Given the description of an element on the screen output the (x, y) to click on. 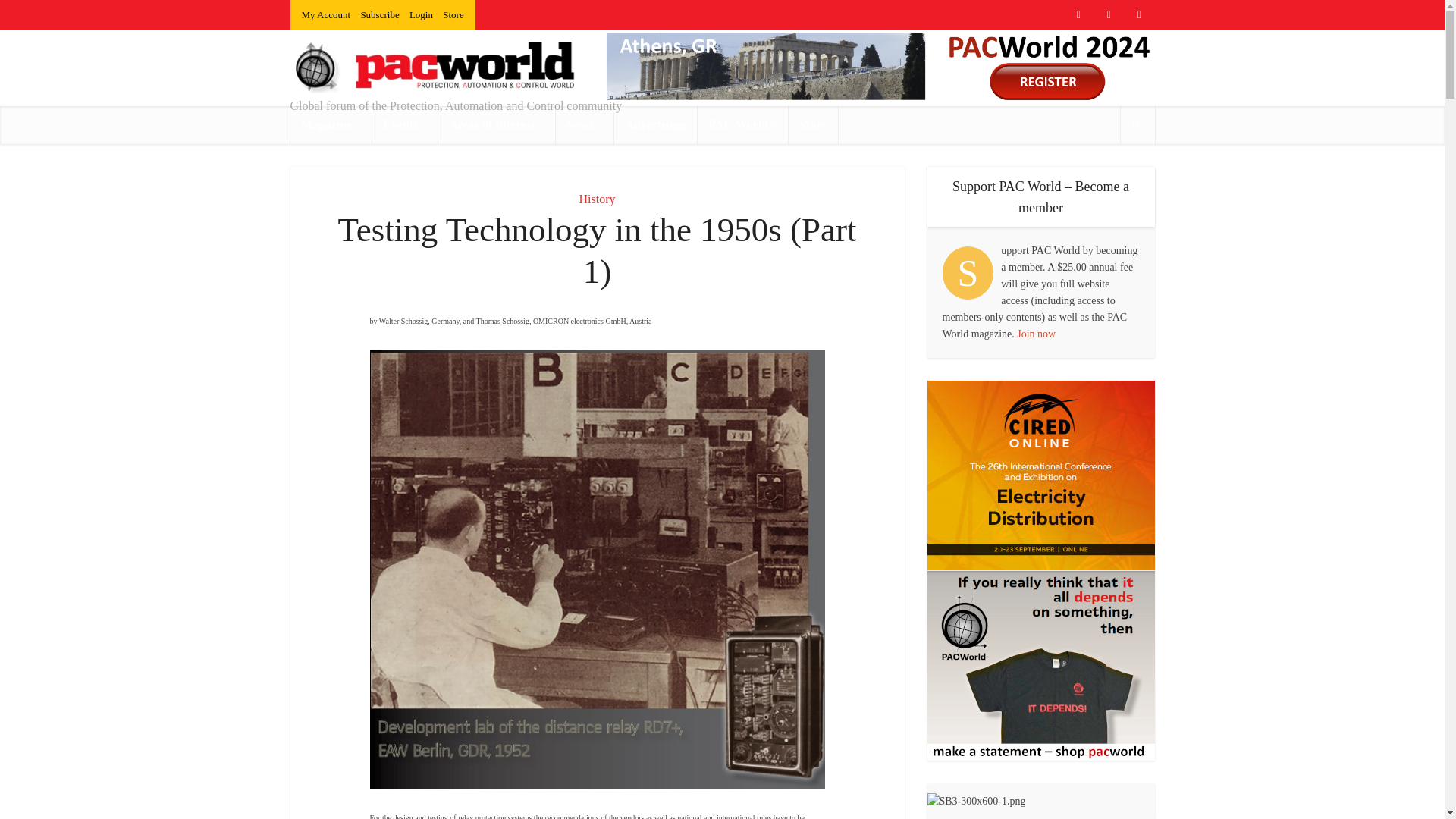
Store (812, 125)
Advertising (654, 125)
News (583, 125)
Magazine (330, 125)
Store (452, 14)
Areas of Interest (496, 125)
Events (404, 125)
PAC World (742, 125)
Subscribe (378, 14)
My Account (325, 14)
Login (420, 14)
